Given the description of an element on the screen output the (x, y) to click on. 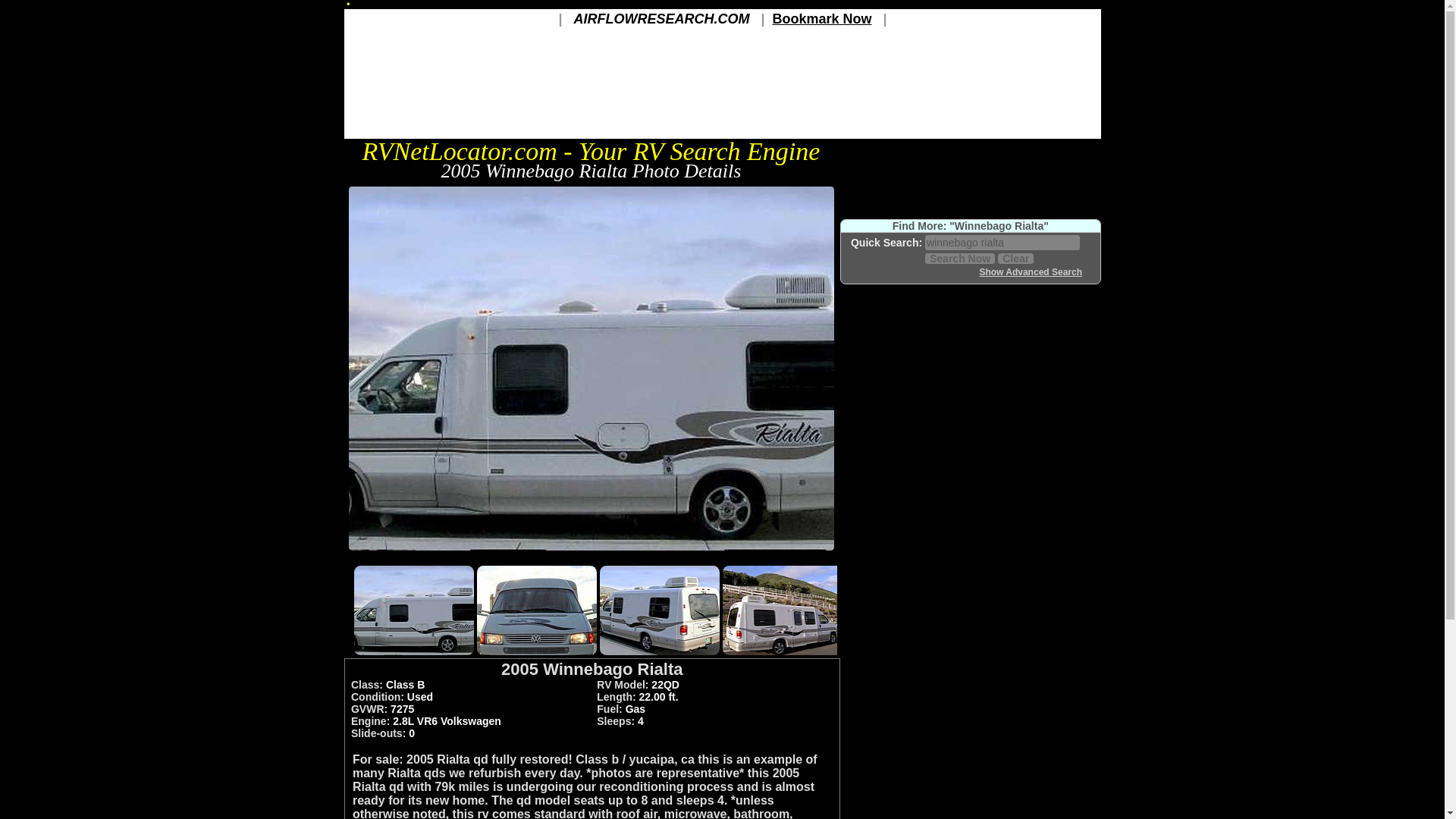
Advertisement (590, 556)
Advertisement (970, 626)
2005 Winnebago Rialta (590, 551)
Advertisement (970, 778)
Advertisement (970, 408)
